Given the description of an element on the screen output the (x, y) to click on. 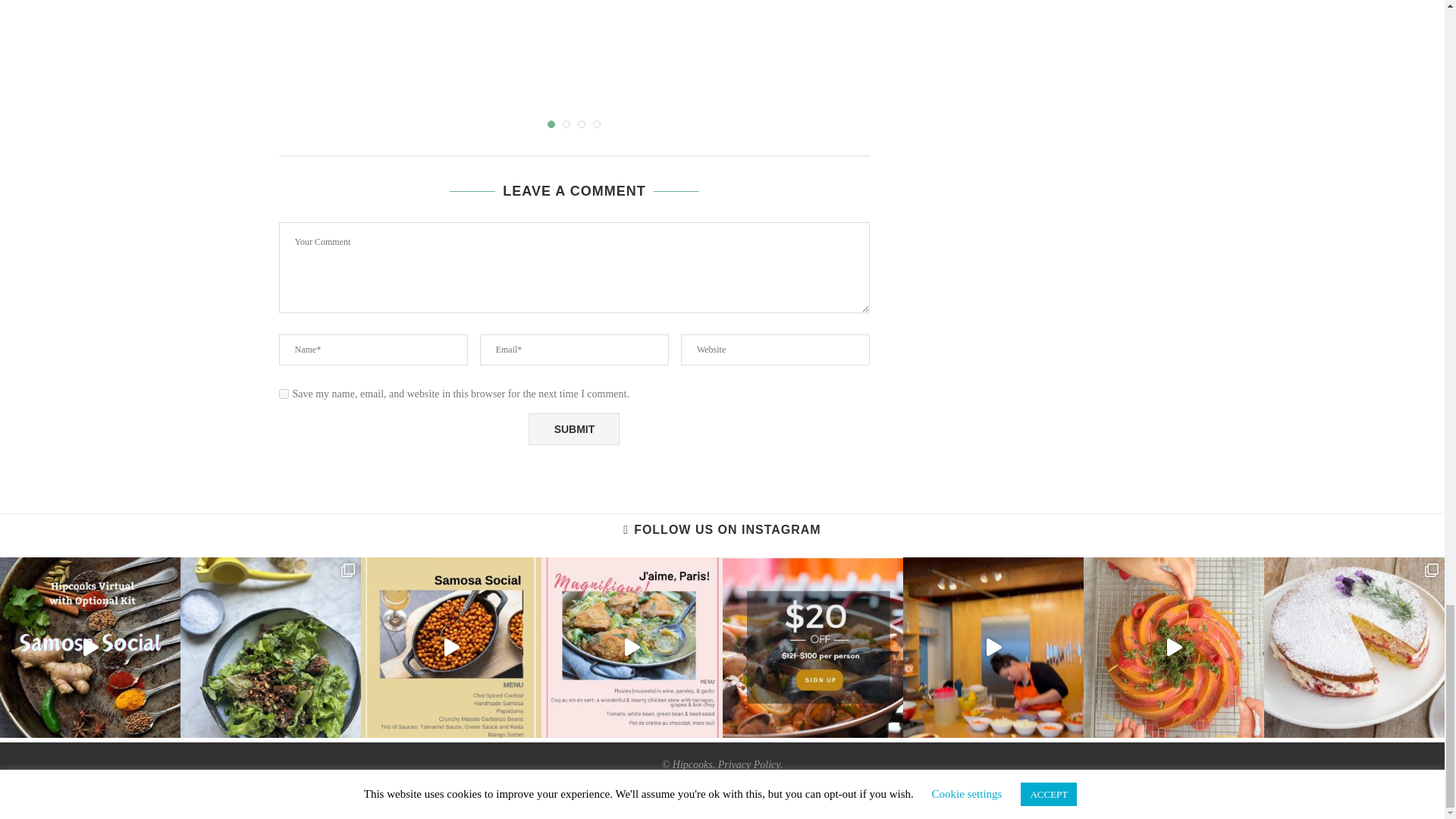
Submit (574, 429)
yes (283, 393)
